Given the description of an element on the screen output the (x, y) to click on. 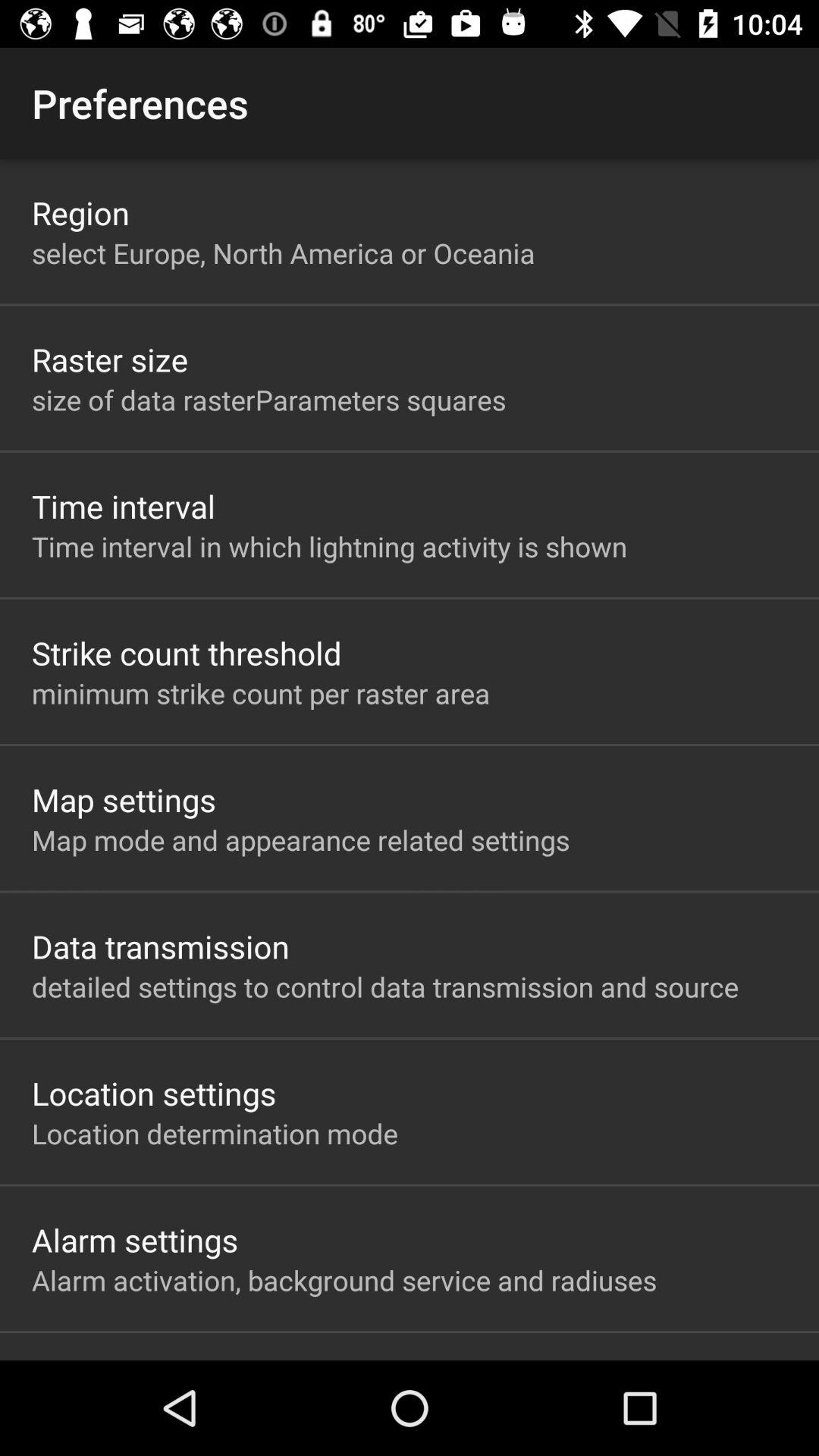
scroll until the size of data item (268, 399)
